Given the description of an element on the screen output the (x, y) to click on. 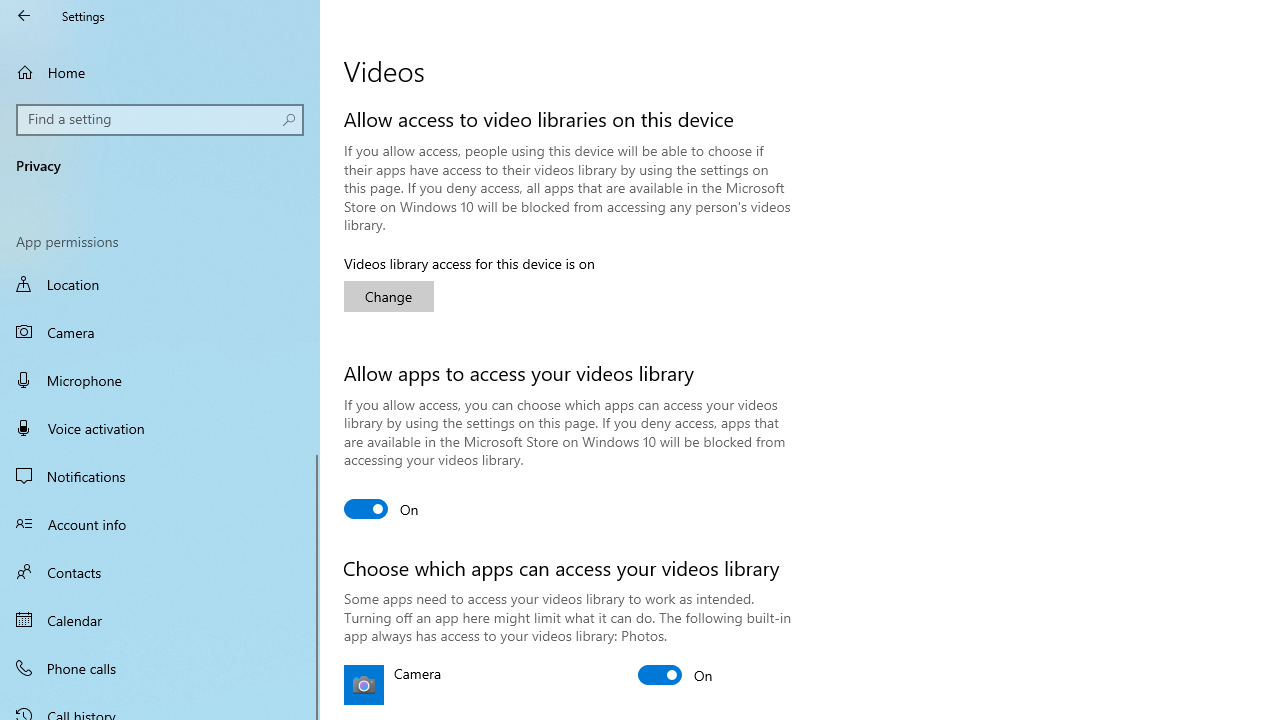
Camera (160, 331)
Camera (675, 674)
Voice activation (160, 427)
Calendar (160, 619)
Allow apps to access your videos library (381, 508)
Microphone (160, 379)
Account info (160, 523)
Notifications (160, 475)
Search box, Find a setting (160, 119)
Phone calls (160, 667)
Change (388, 295)
Contacts (160, 571)
Location (160, 286)
